Given the description of an element on the screen output the (x, y) to click on. 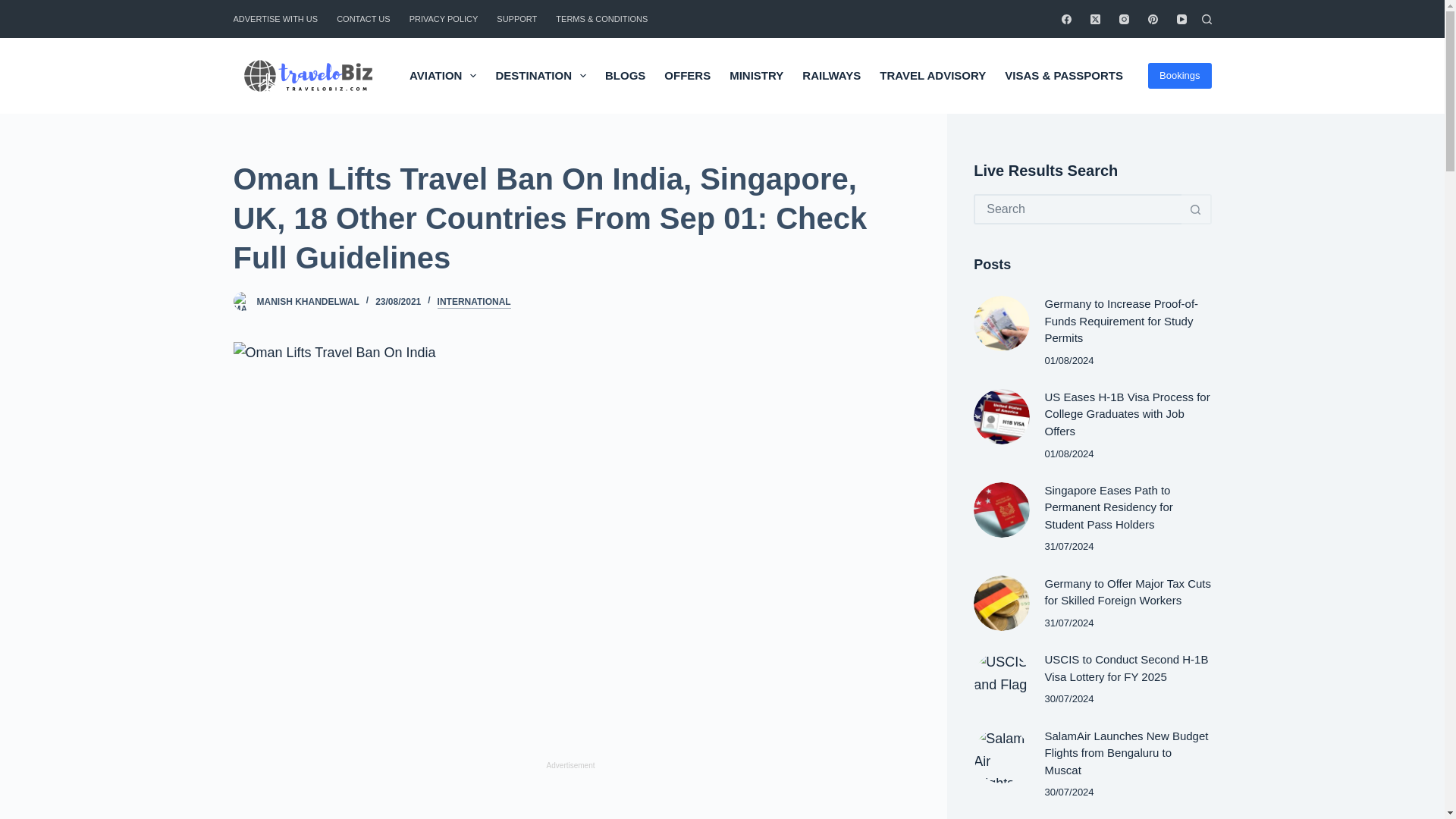
ADVERTISE WITH US (279, 18)
Posts by Manish Khandelwal (307, 301)
SUPPORT (517, 18)
Skip to content (15, 7)
CONTACT US (363, 18)
Search for... (1077, 209)
PRIVACY POLICY (442, 18)
